Given the description of an element on the screen output the (x, y) to click on. 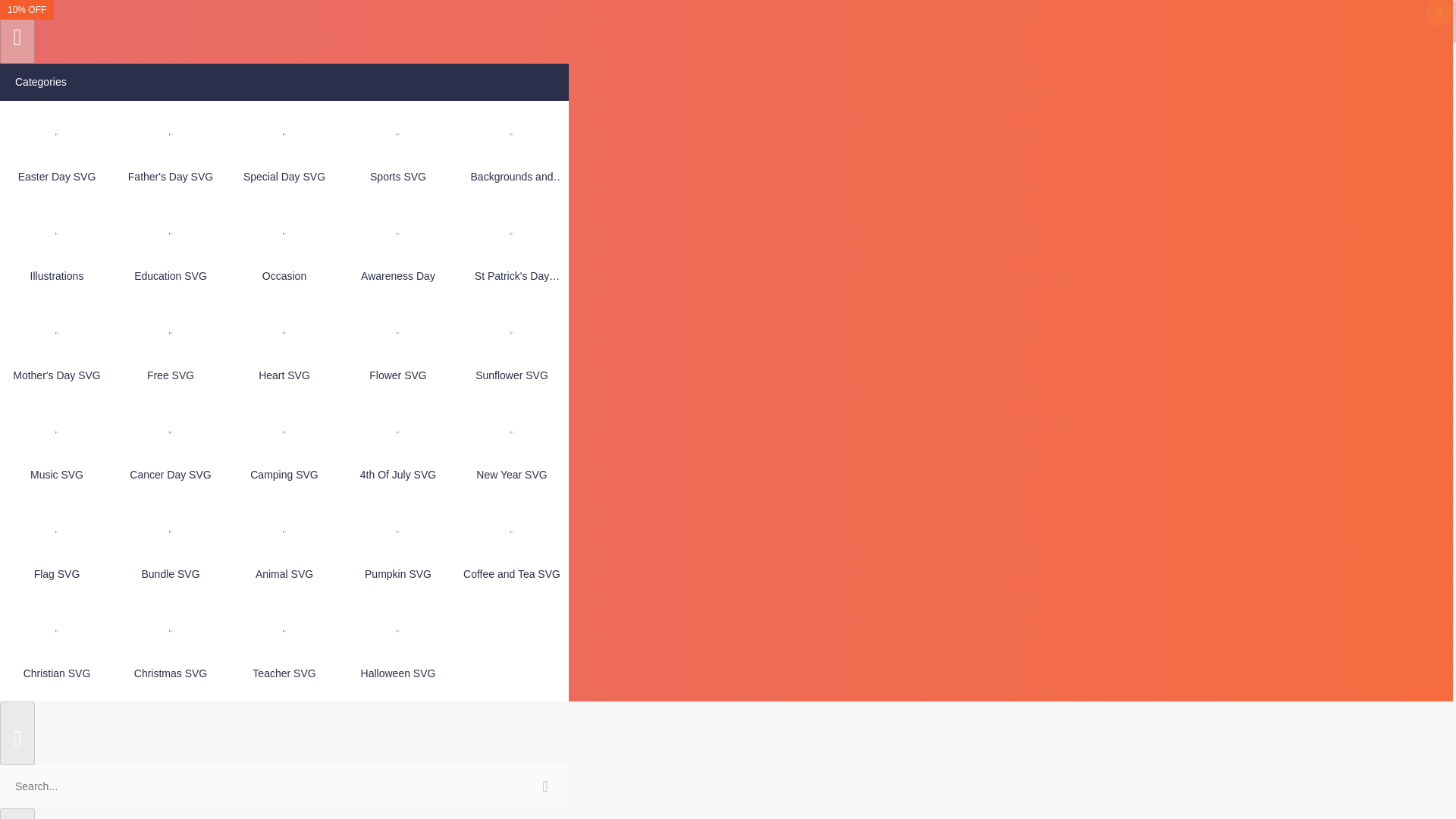
Flower SVG (397, 348)
Free SVG (170, 348)
Backgrounds and Patterns SVG (511, 149)
New Year SVG (511, 447)
Christmas SVG (170, 646)
Bundle SVG (170, 547)
Flag SVG (56, 547)
St Patrick's Day SVG (511, 249)
Music SVG (56, 447)
Illustrations (56, 249)
